Given the description of an element on the screen output the (x, y) to click on. 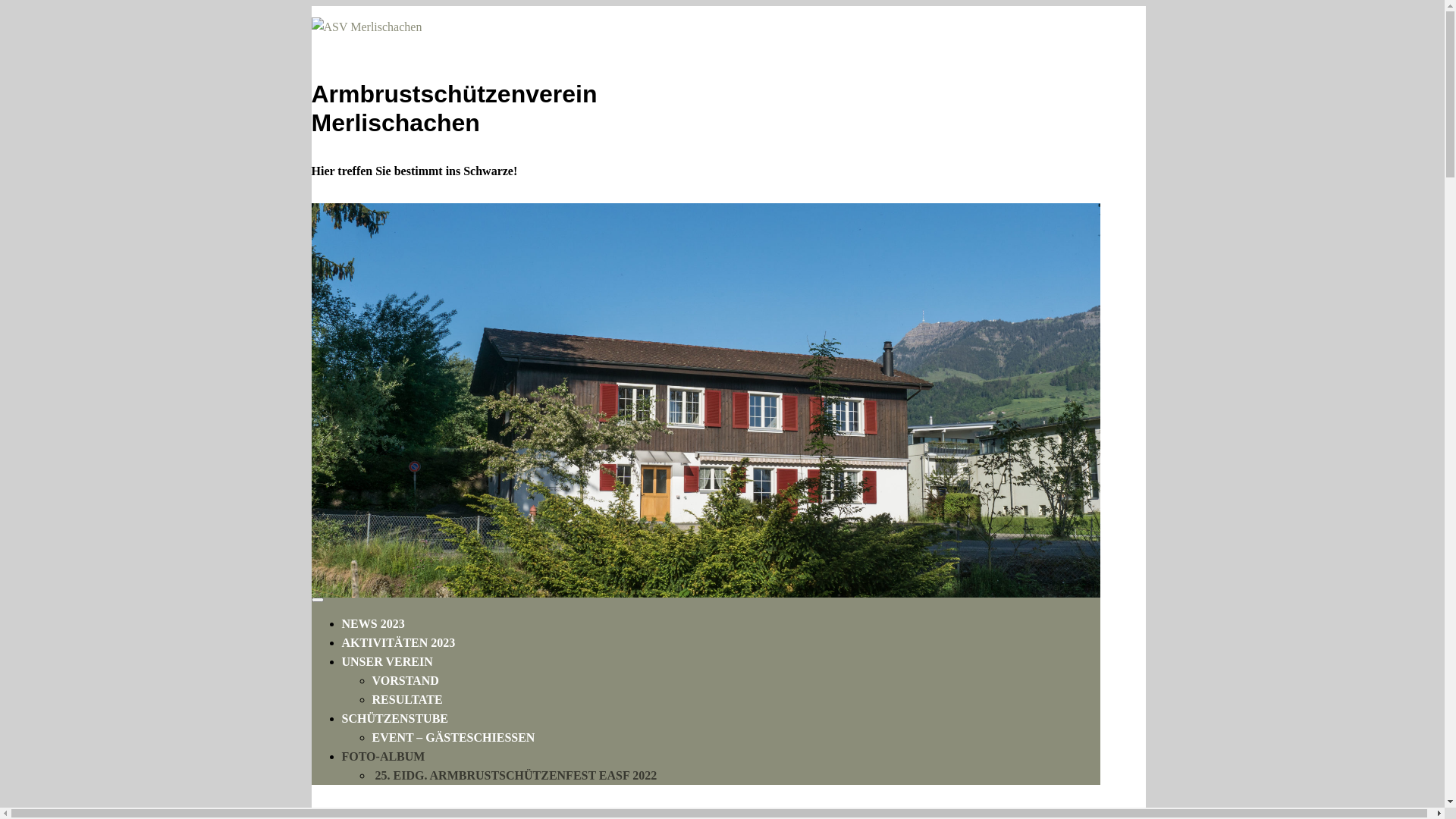
VORSTAND Element type: text (404, 680)
RESULTATE Element type: text (406, 699)
NEWS 2023 Element type: text (372, 623)
UNSER VEREIN Element type: text (386, 661)
FOTO-ALBUM Element type: text (382, 755)
